Given the description of an element on the screen output the (x, y) to click on. 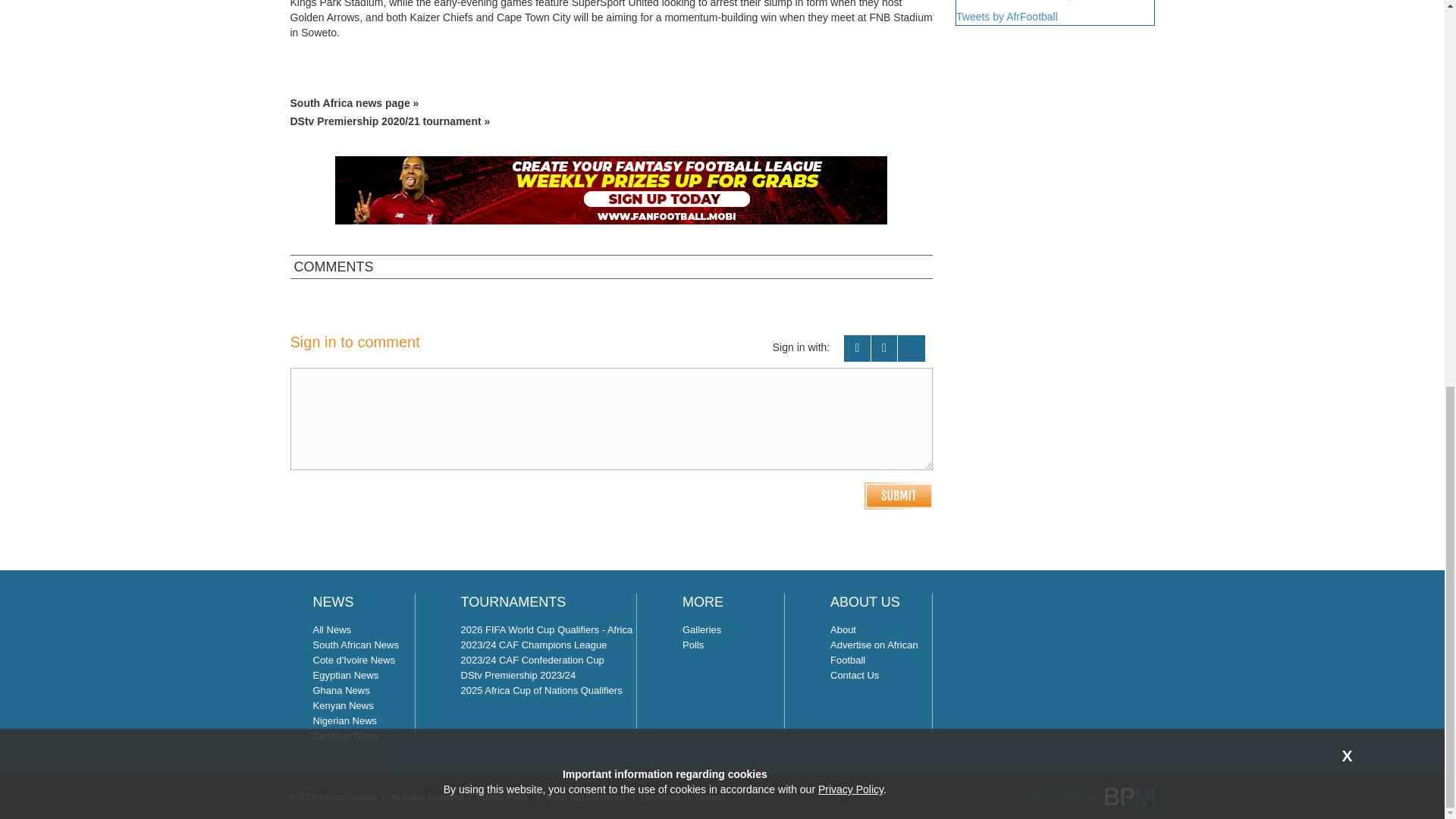
Sign in with your Facebook details (856, 347)
Sign in with your Twitter details (884, 347)
South Africa news page (611, 103)
